Given the description of an element on the screen output the (x, y) to click on. 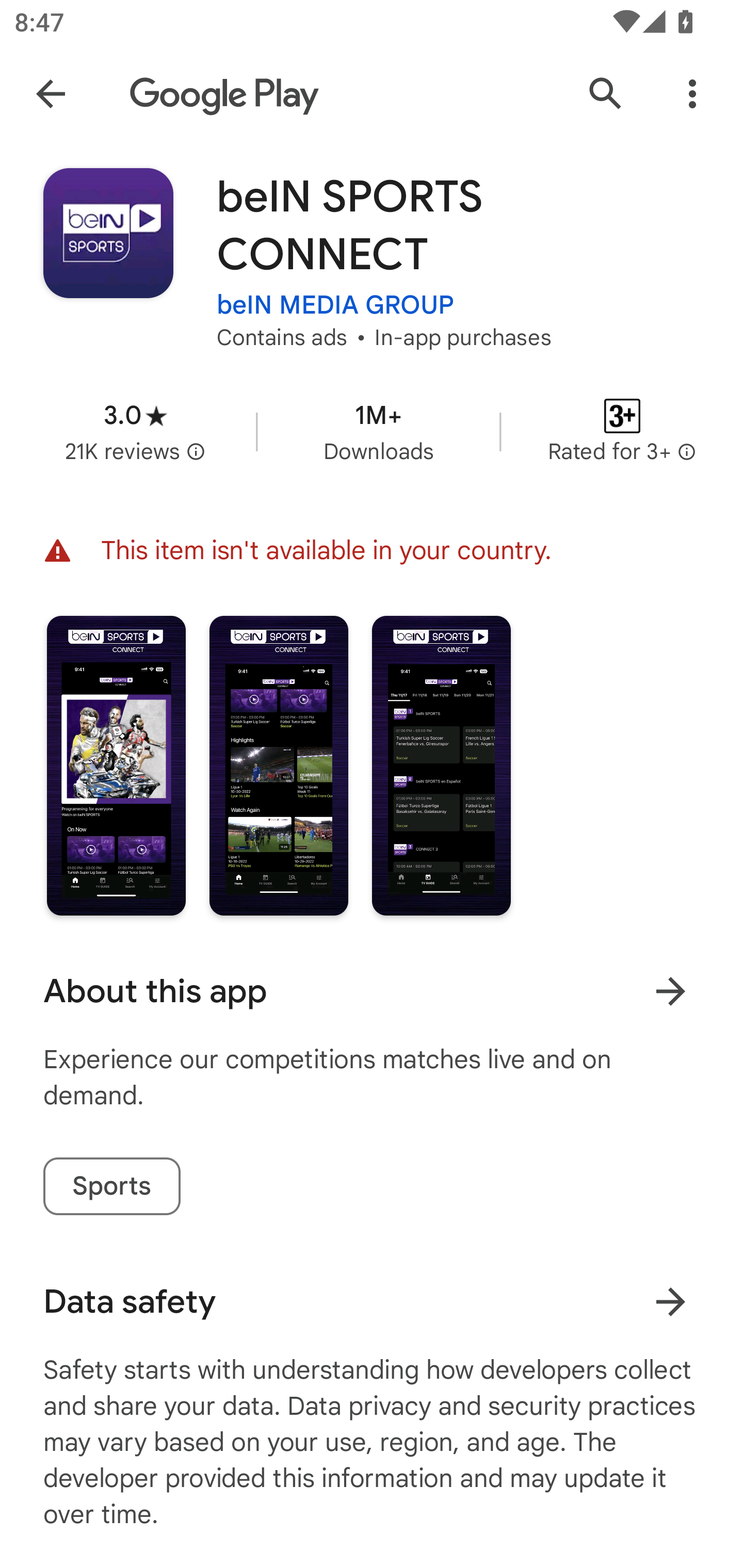
Navigate up (50, 93)
Search Google Play (605, 93)
More Options (692, 93)
beIN MEDIA GROUP (334, 304)
Average rating 3.0 stars in 21 thousand reviews (135, 431)
Content rating Rated for 3+ (622, 431)
Screenshot "1" of "3" (115, 765)
Screenshot "2" of "3" (278, 765)
Screenshot "3" of "3" (441, 765)
About this app Learn more About this app (371, 990)
Learn more About this app (670, 991)
Sports tag (111, 1186)
Data safety Learn more about data safety (371, 1301)
Learn more about data safety (670, 1302)
